Given the description of an element on the screen output the (x, y) to click on. 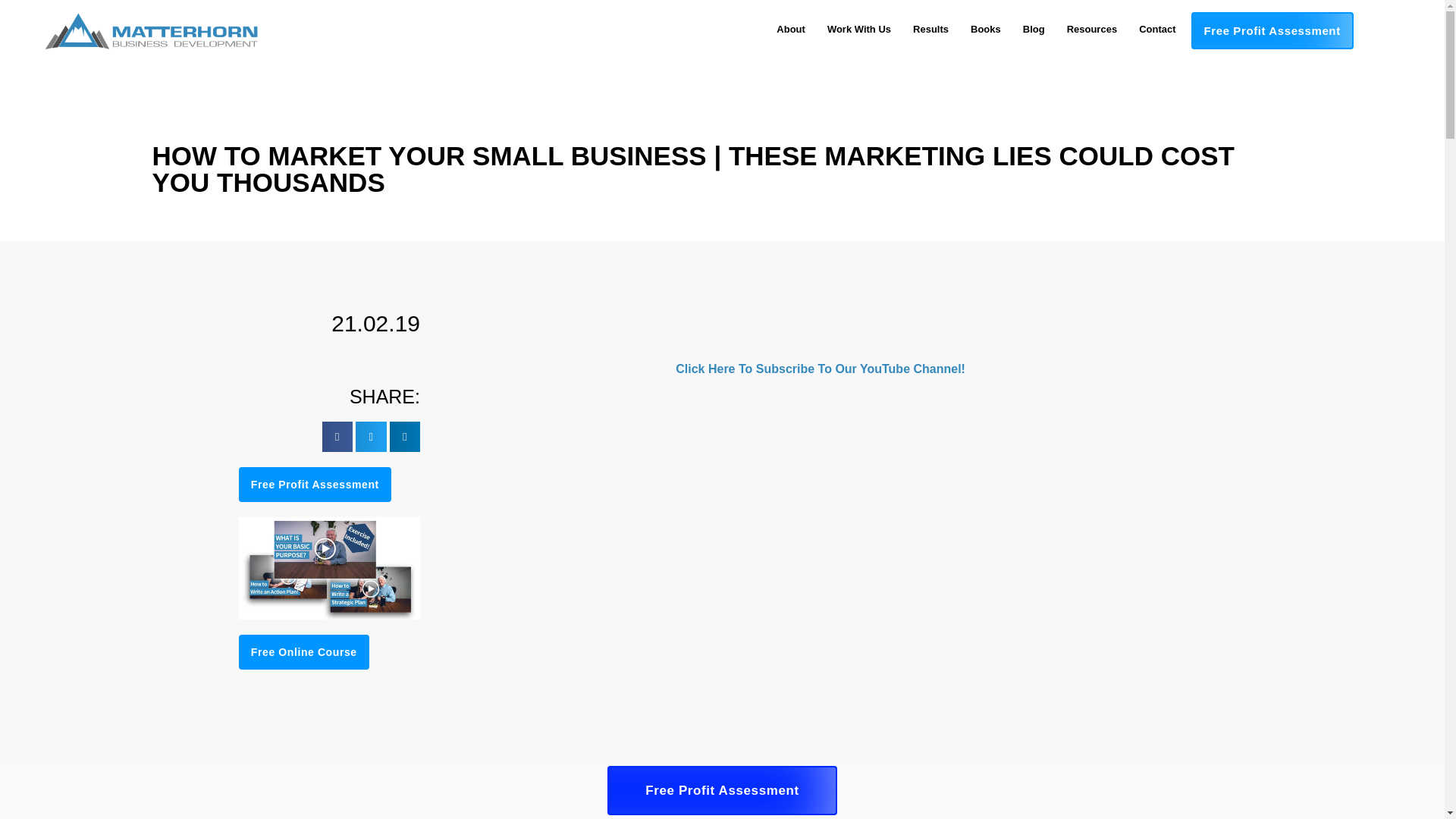
Click Here To Subscribe To Our YouTube Channel! (820, 368)
Work With Us (859, 29)
Free Profit Assessment (314, 484)
Results (930, 29)
Click here to watch Part One (908, 798)
Free Online Course (303, 651)
Resources (1091, 29)
Contact (1156, 29)
Free Profit Assessment (1272, 30)
